Given the description of an element on the screen output the (x, y) to click on. 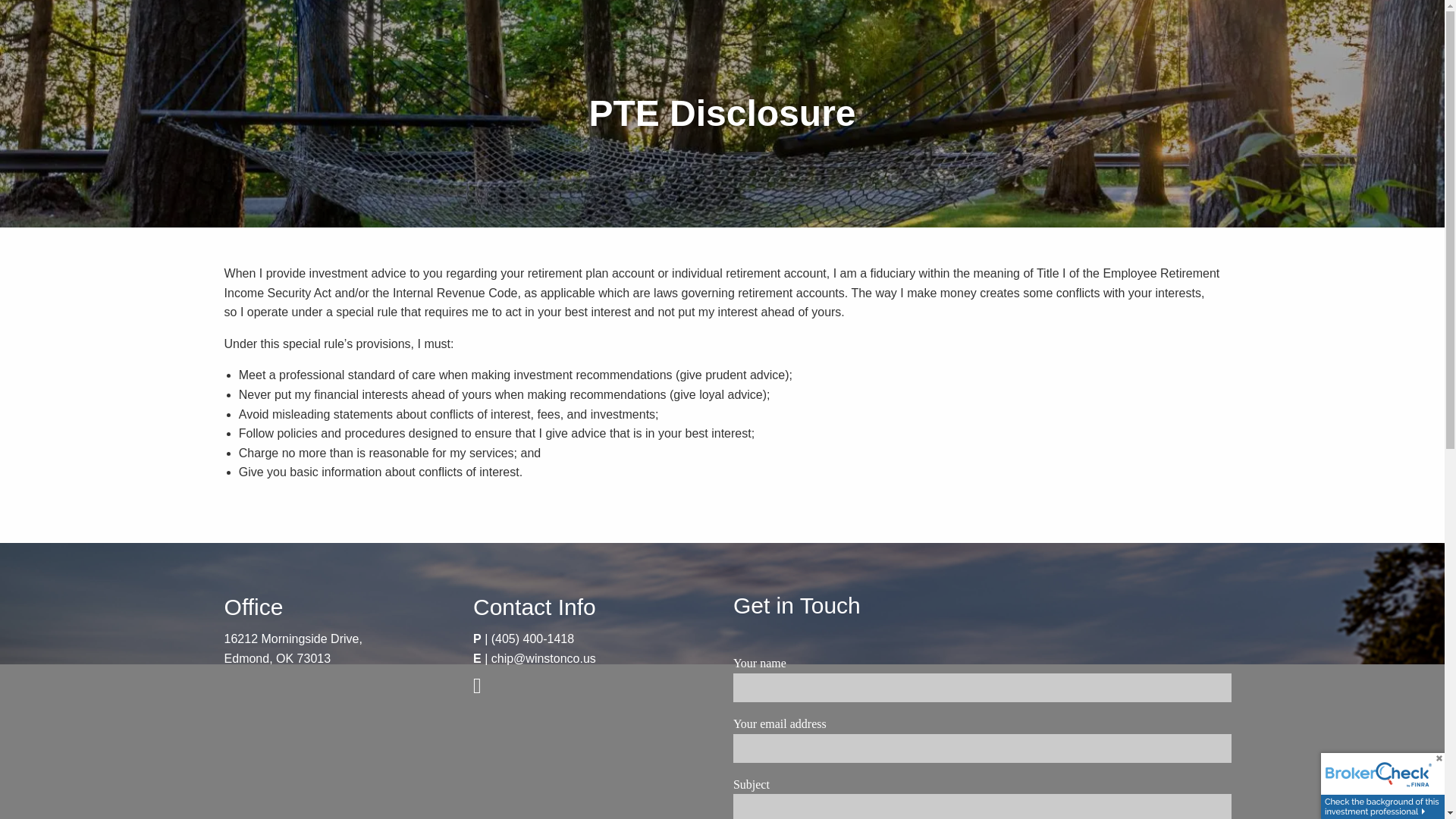
CLIENT LOGIN (1179, 87)
ABOUT (1097, 17)
RESOURCES (1105, 52)
MY SERVICES (1180, 17)
HOME (1036, 17)
CONTACT (1191, 52)
